Given the description of an element on the screen output the (x, y) to click on. 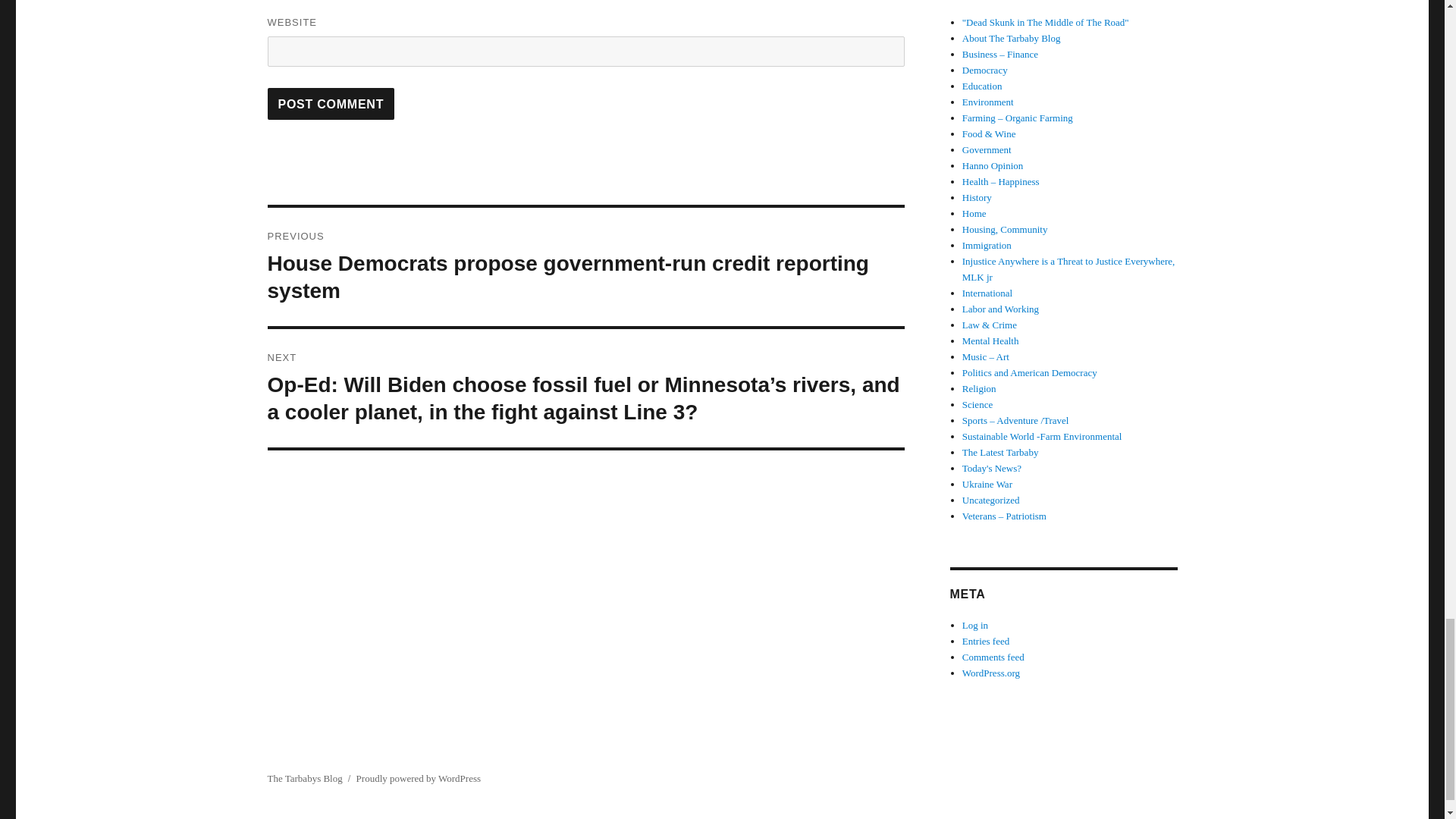
Stories of injustice and justice (1068, 268)
Presenting another Tarbaby (1000, 451)
Issues and events that stink to high heaven (1045, 21)
Read about the origins of this Tarbaby Blog (1011, 38)
Post Comment (330, 103)
Post Comment (330, 103)
